Given the description of an element on the screen output the (x, y) to click on. 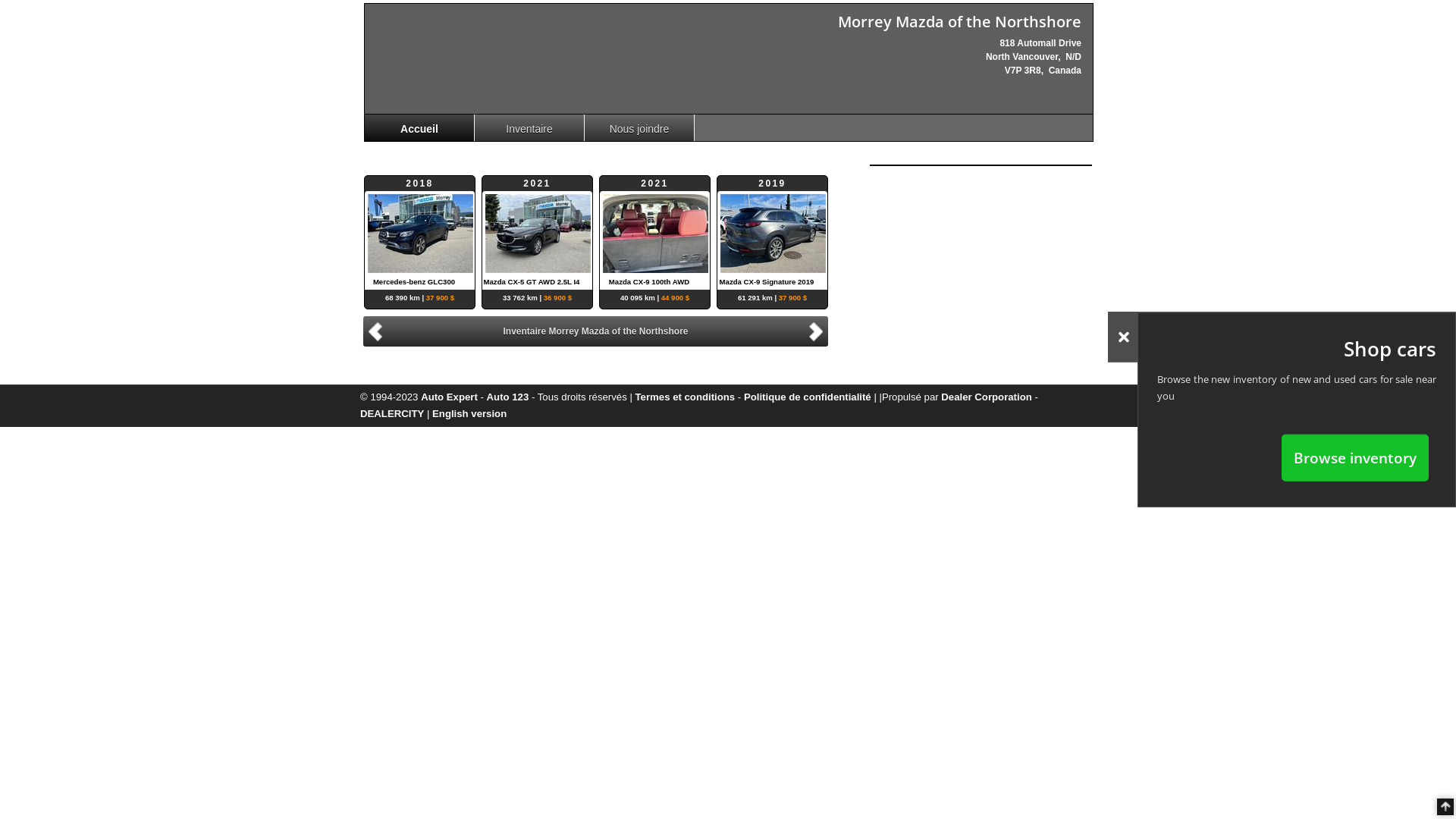
Auto 123 Element type: text (507, 396)
Auto Expert Element type: text (448, 396)
Dealer Corporation Element type: text (986, 396)
English version Element type: text (469, 413)
Inventaire Element type: text (529, 127)
2021
Mazda CX-9 100th AWD 2021
40 095 km | 44 900 $ Element type: text (772, 232)
Suivant Element type: hover (818, 329)
DEALERCITY Element type: text (391, 413)
Nous joindre Element type: text (639, 127)
Browse inventory Element type: text (1354, 457)
Accueil Element type: text (419, 127)
Termes et conditions Element type: text (685, 396)
